Given the description of an element on the screen output the (x, y) to click on. 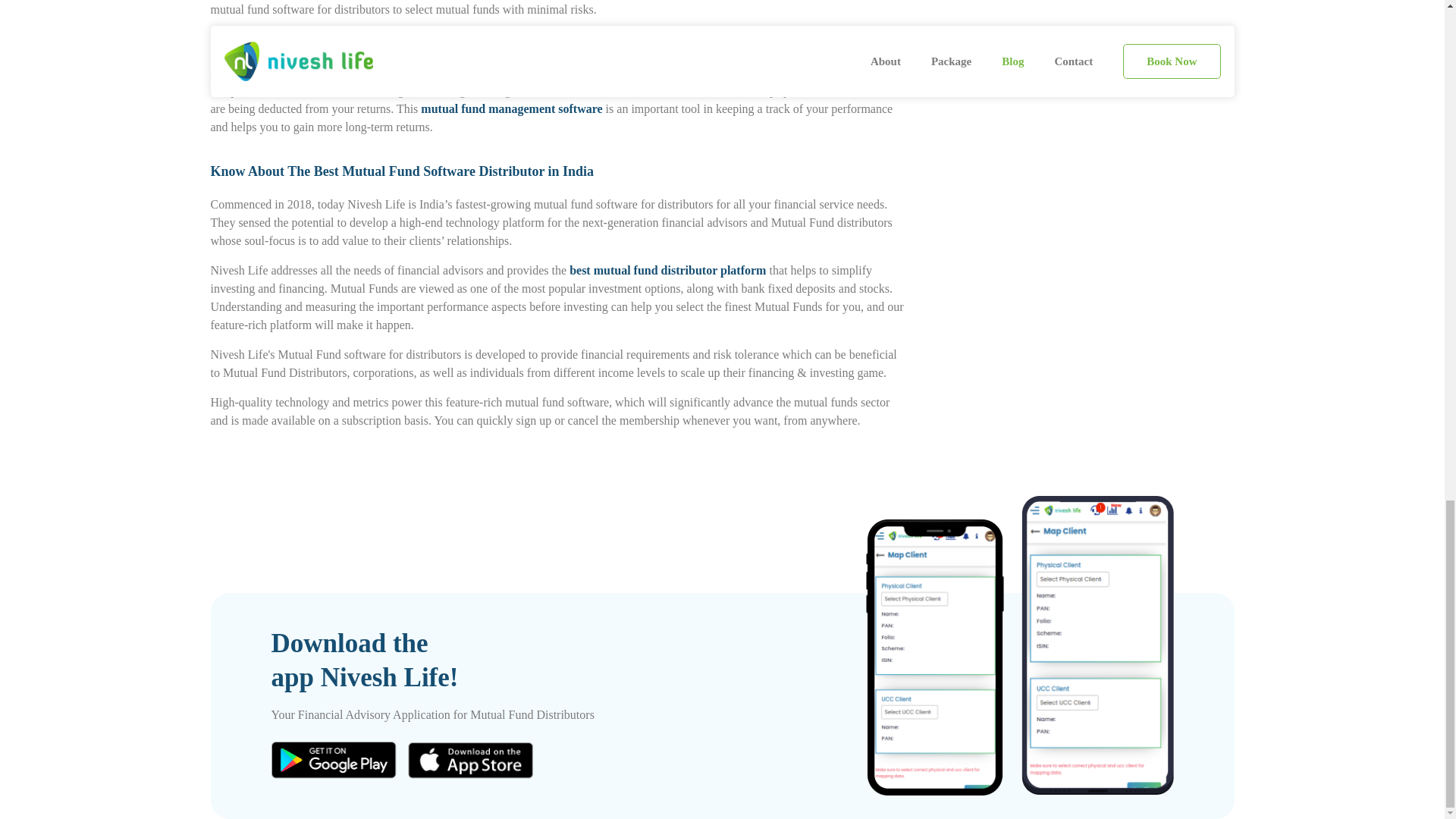
dow-btn (333, 759)
dow-btn (469, 759)
mutual fund management software (511, 108)
